Given the description of an element on the screen output the (x, y) to click on. 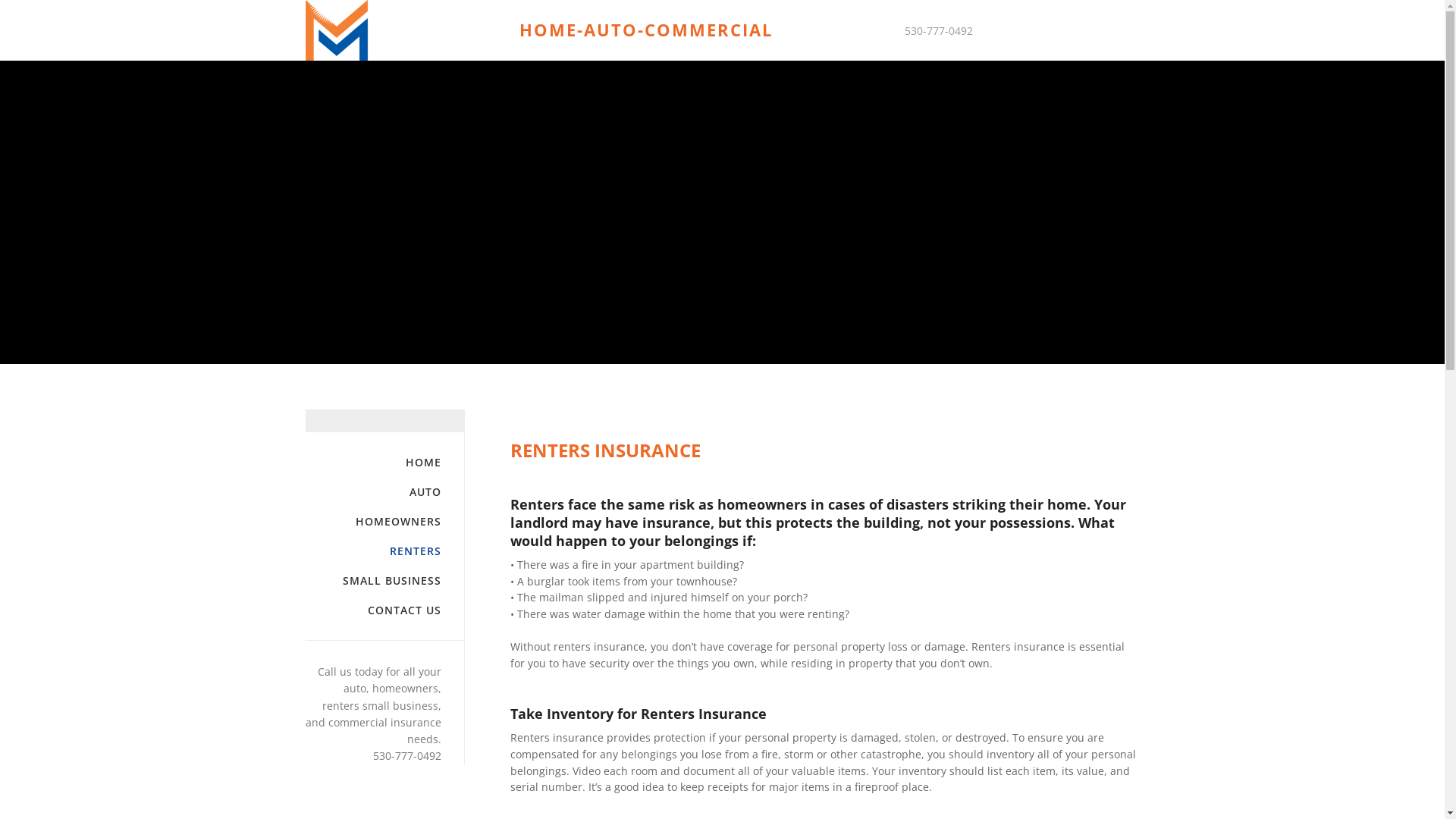
AUTO Element type: text (372, 491)
RENTERS Element type: text (372, 550)
SMALL BUSINESS Element type: text (372, 580)
CONTACT US Element type: text (372, 609)
HOMEOWNERS Element type: text (372, 521)
HOME Element type: text (372, 462)
